Given the description of an element on the screen output the (x, y) to click on. 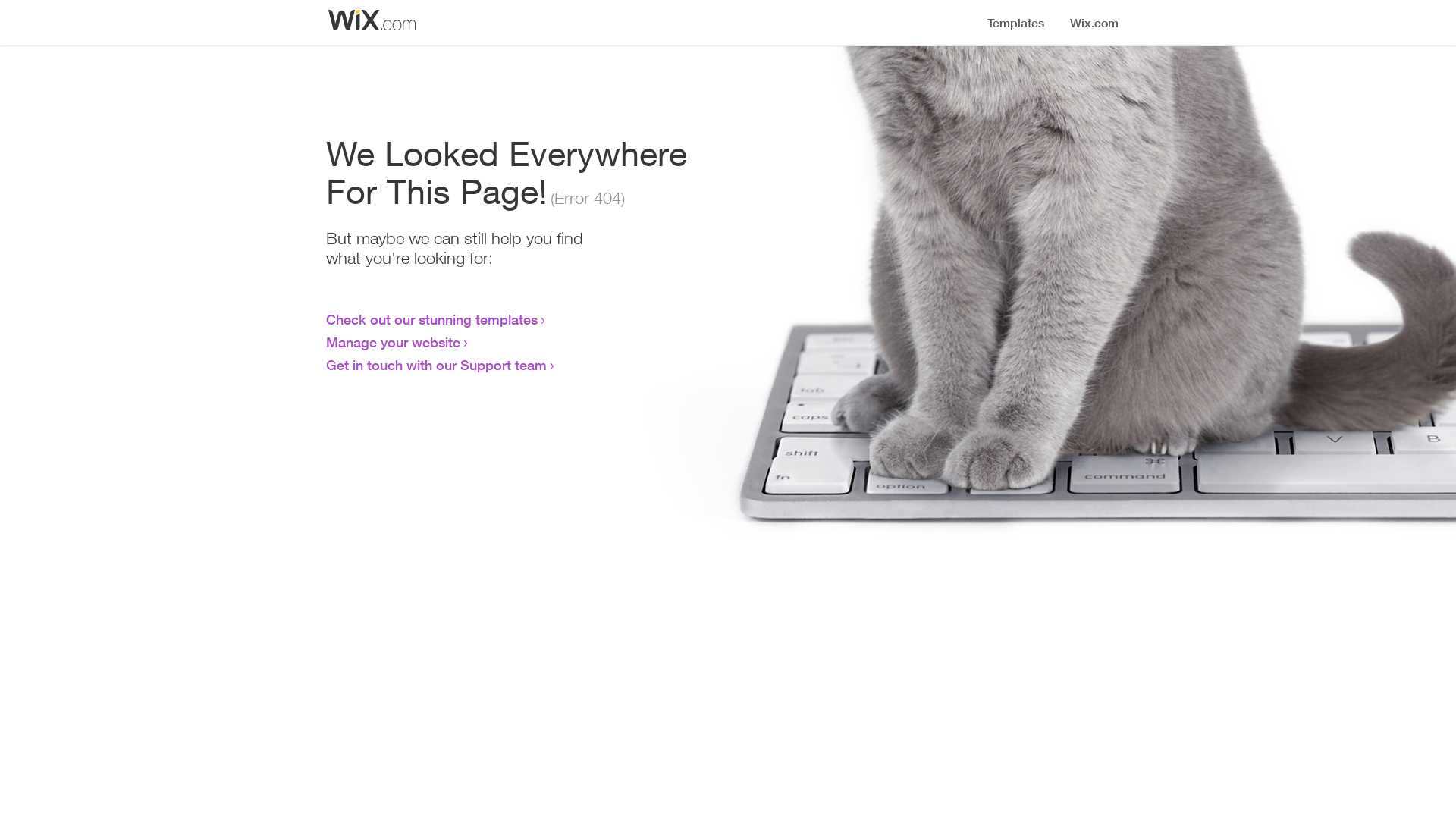
Check out our stunning templates Element type: text (431, 318)
Manage your website Element type: text (393, 341)
Get in touch with our Support team Element type: text (436, 364)
